Given the description of an element on the screen output the (x, y) to click on. 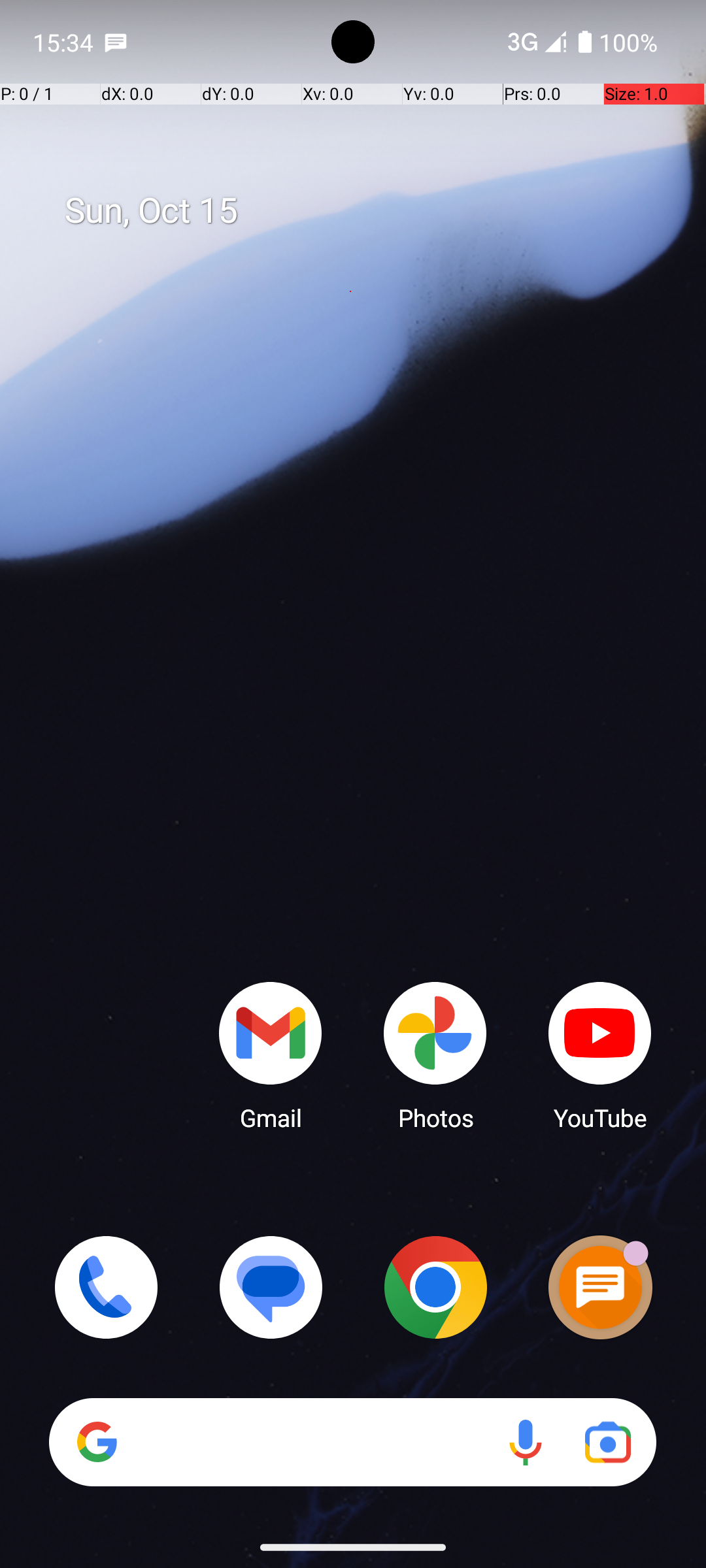
SMS Messenger Element type: android.widget.TextView (599, 1287)
